Given the description of an element on the screen output the (x, y) to click on. 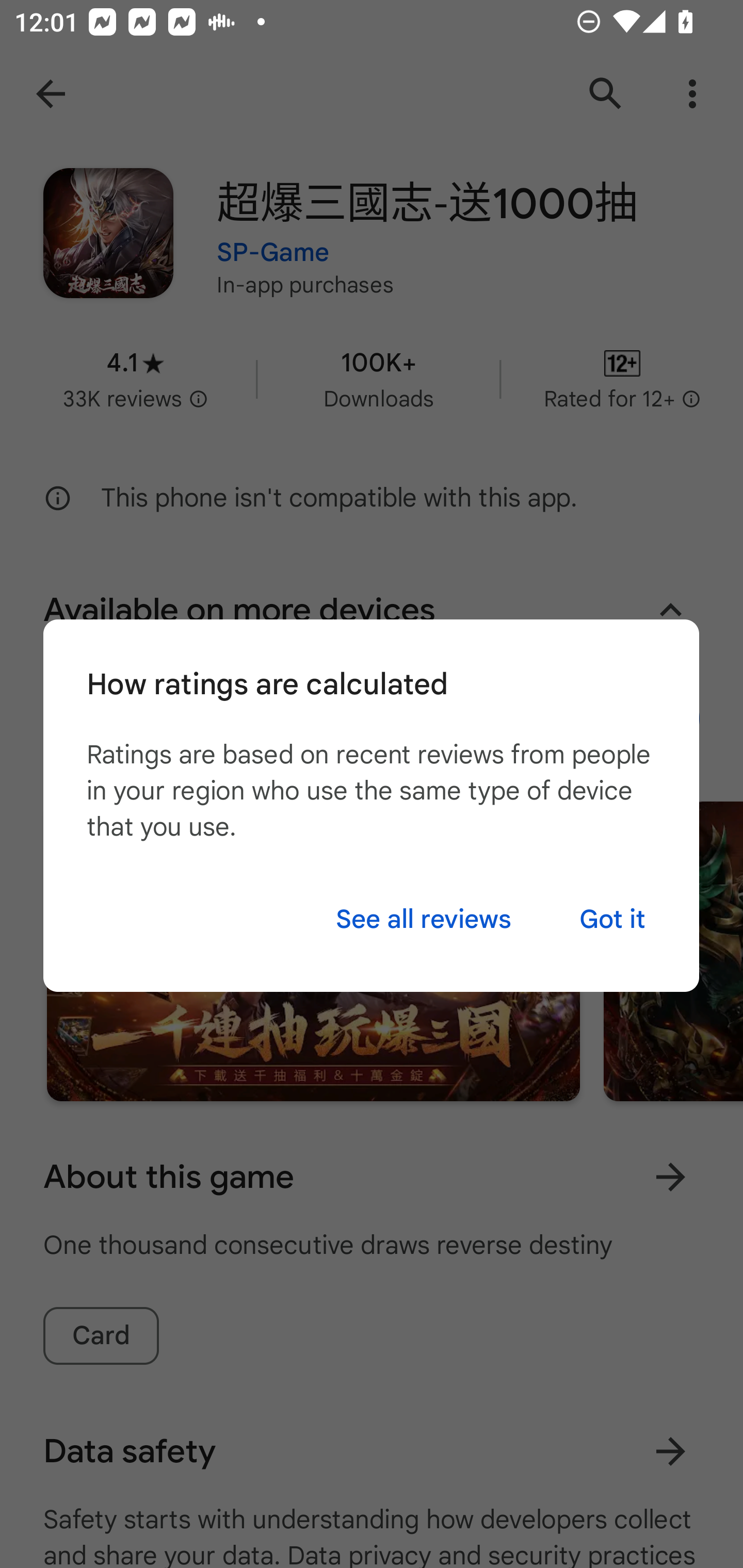
See all reviews (423, 919)
Got it (612, 919)
